Given the description of an element on the screen output the (x, y) to click on. 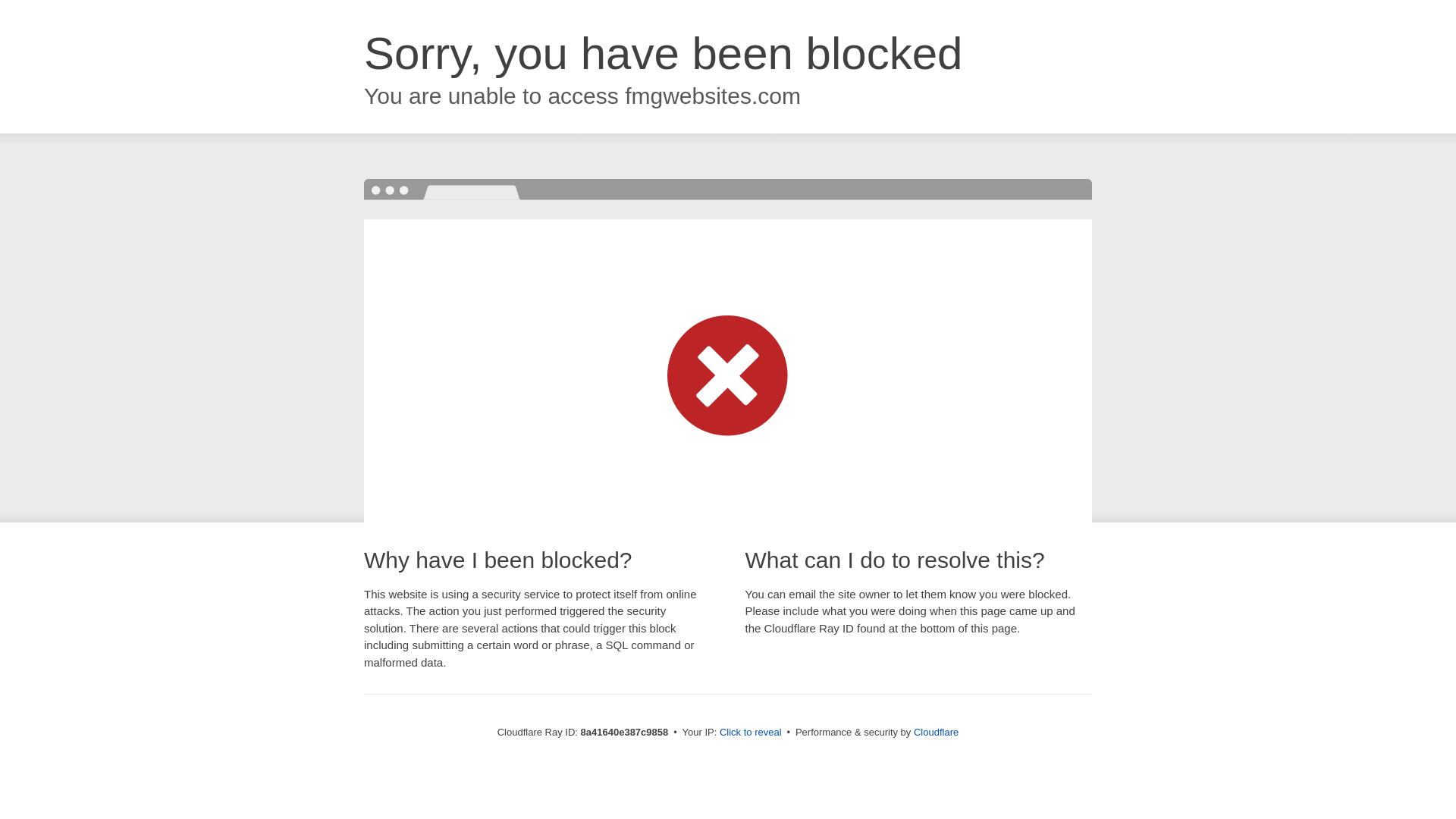
Cloudflare (936, 731)
Click to reveal (750, 732)
